Given the description of an element on the screen output the (x, y) to click on. 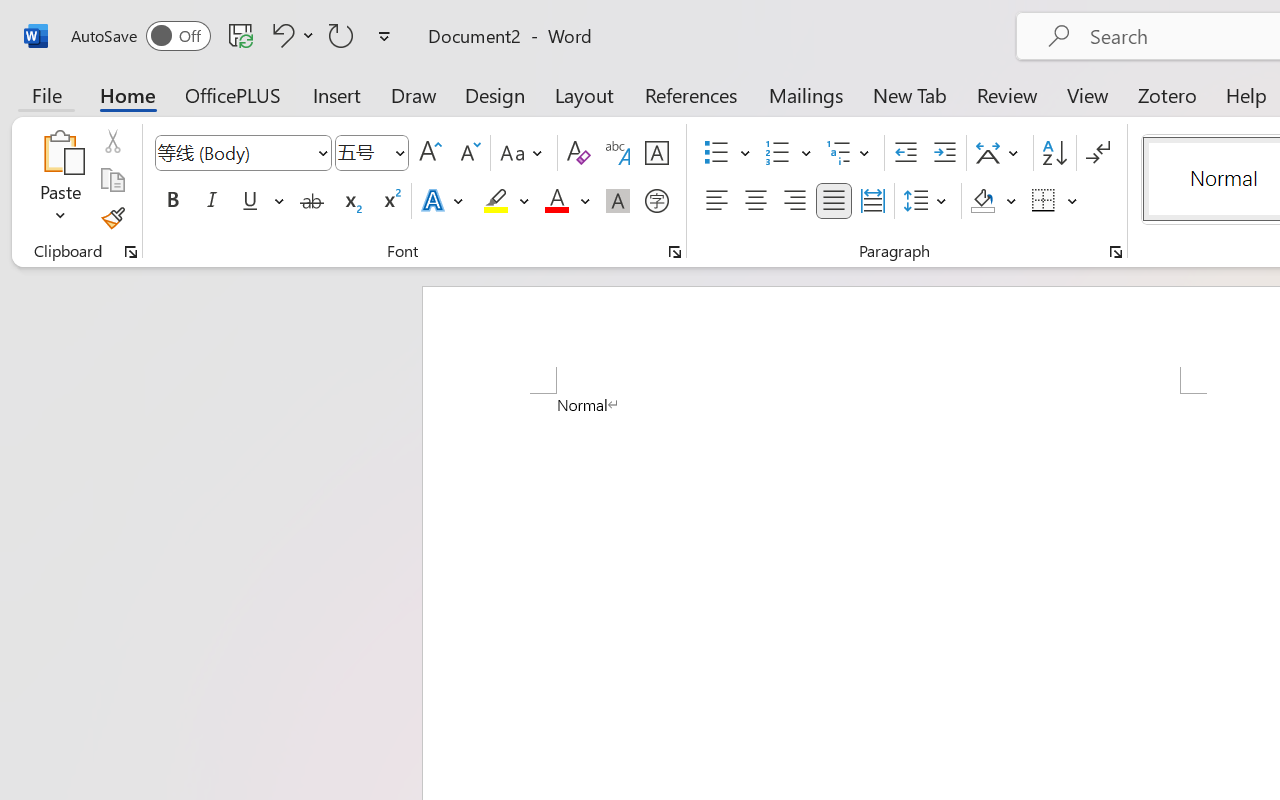
References (690, 94)
Enclose Characters... (656, 201)
Text Highlight Color Yellow (495, 201)
Font (234, 152)
AutoSave (140, 35)
Italic (212, 201)
Numbering (778, 153)
Home (127, 94)
Format Painter (112, 218)
Subscript (350, 201)
Align Right (794, 201)
Bold (172, 201)
Line and Paragraph Spacing (927, 201)
Layout (584, 94)
